Given the description of an element on the screen output the (x, y) to click on. 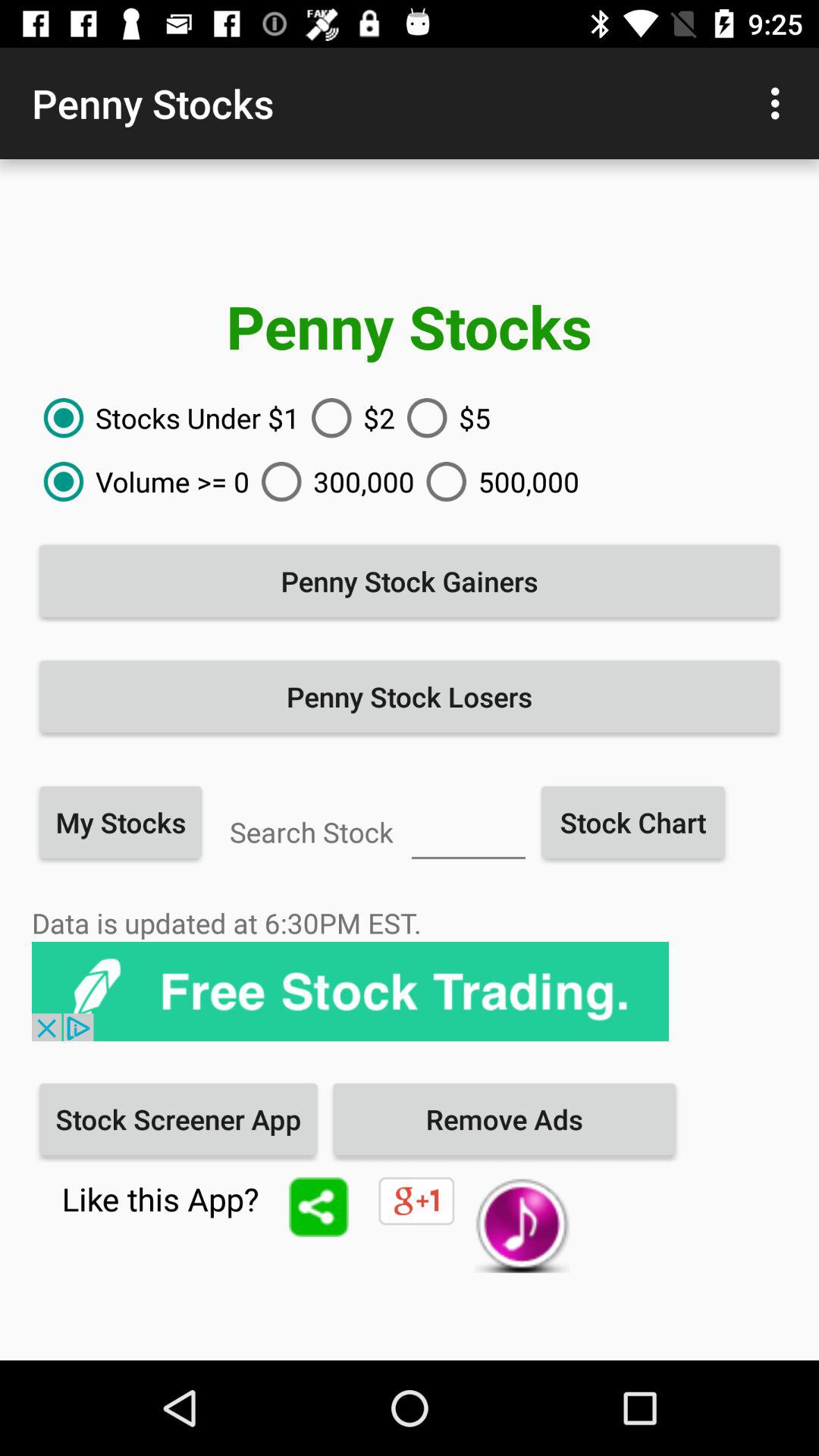
turn on the item below stocks under $1 icon (140, 481)
